Given the description of an element on the screen output the (x, y) to click on. 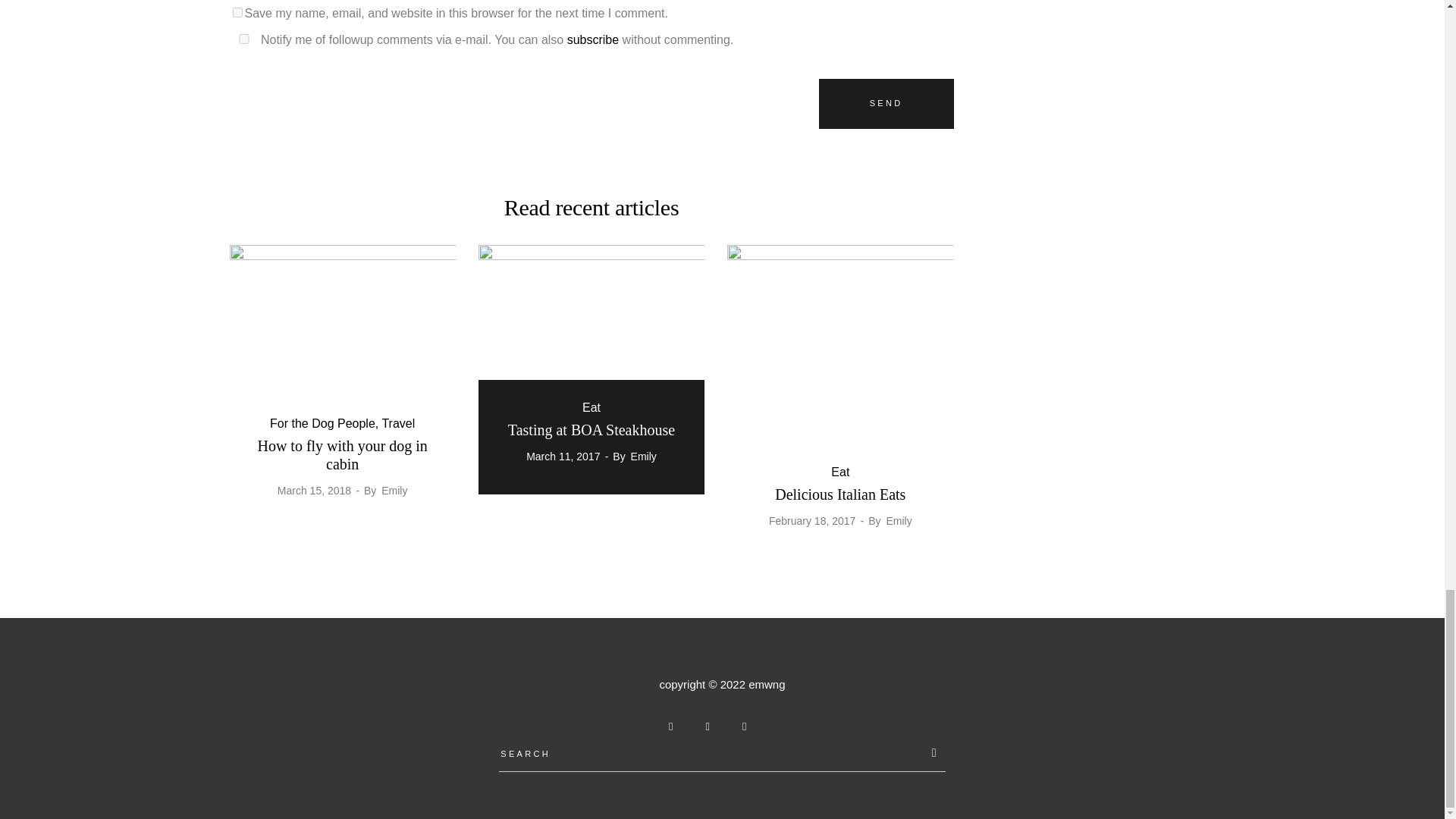
Send (885, 103)
Delicious Italian Eats (839, 344)
Tasting at BOA Steakhouse (591, 329)
How to fly with your dog in cabin (341, 453)
yes (242, 39)
yes (236, 12)
Tasting at BOA Steakhouse (591, 429)
Delicious Italian Eats (839, 494)
How to fly with your dog in cabin (341, 319)
